Given the description of an element on the screen output the (x, y) to click on. 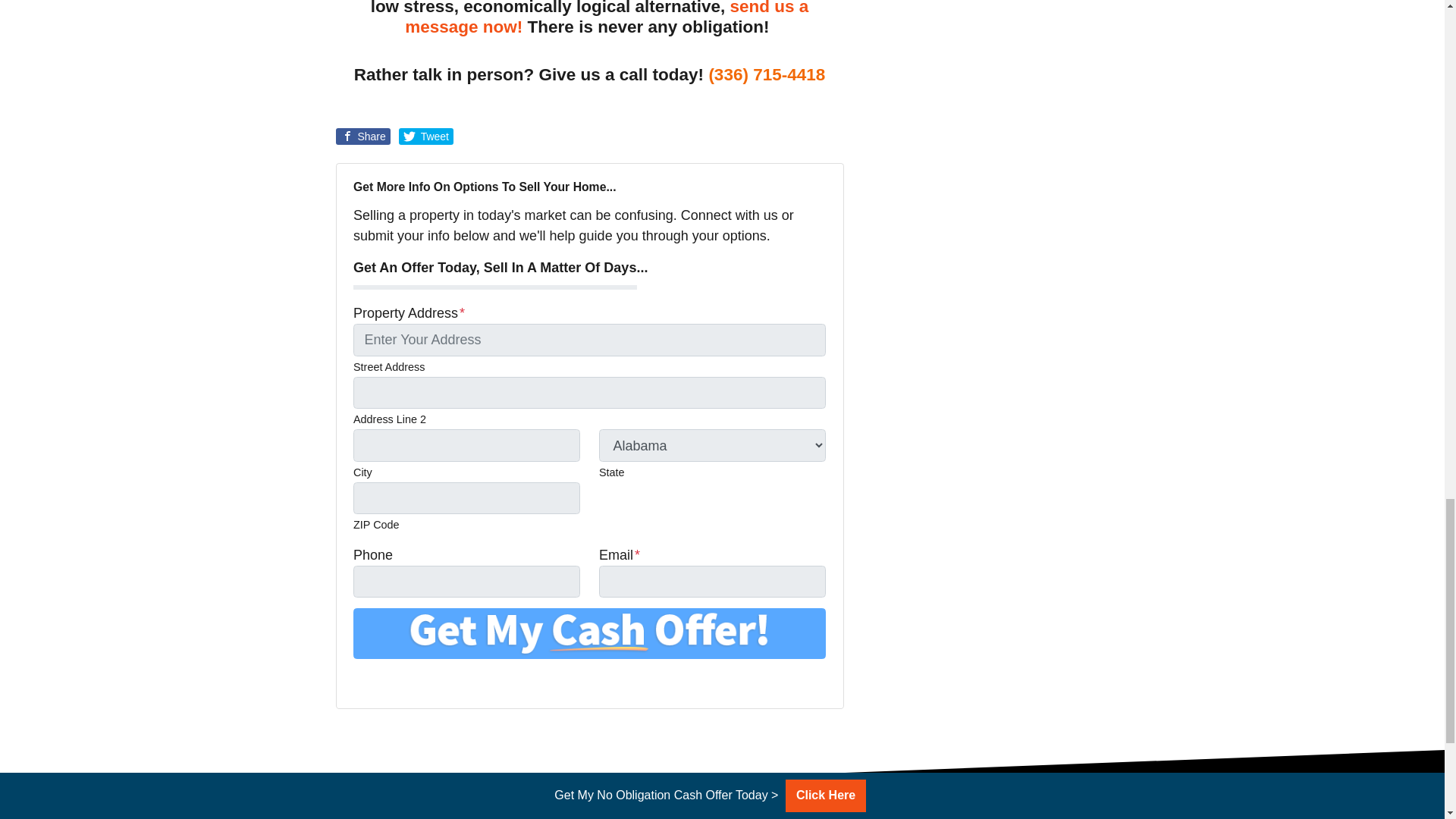
Share on Twitter (425, 135)
Tweet (425, 135)
YouTube (404, 681)
Facebook (383, 681)
Share on Facebook (362, 135)
Share (362, 135)
Twitter (362, 681)
Instagram (447, 681)
LinkedIn (425, 681)
send us a message now! (606, 18)
